Given the description of an element on the screen output the (x, y) to click on. 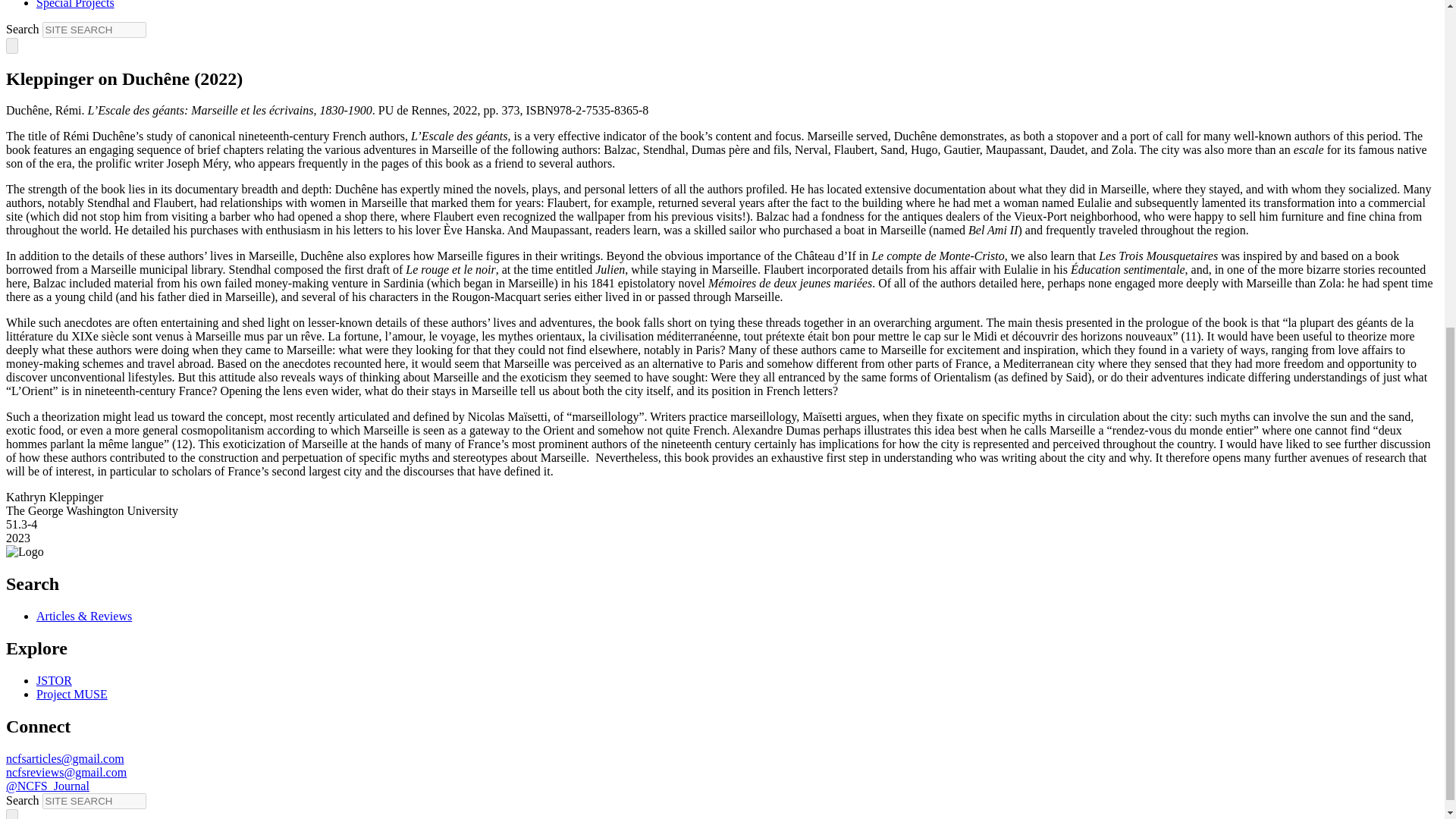
Enter the terms you wish to search for. (94, 801)
Enter the terms you wish to search for. (94, 29)
